Given the description of an element on the screen output the (x, y) to click on. 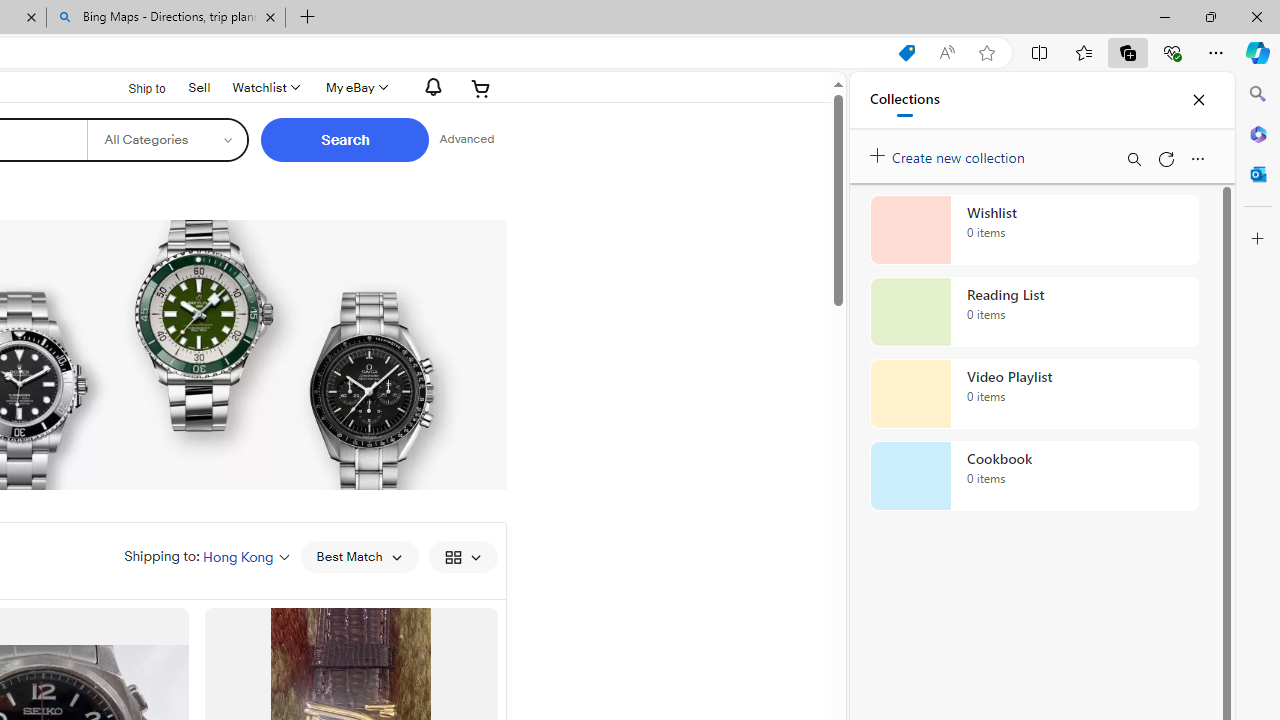
My eBayExpand My eBay (354, 88)
Sell (199, 86)
Expand Cart (481, 88)
Cookbook collection, 0 items (1034, 475)
Video Playlist collection, 0 items (1034, 394)
WatchlistExpand Watch List (264, 88)
Customize (1258, 239)
Outlook (1258, 174)
Create new collection (950, 153)
Microsoft 365 (1258, 133)
